Given the description of an element on the screen output the (x, y) to click on. 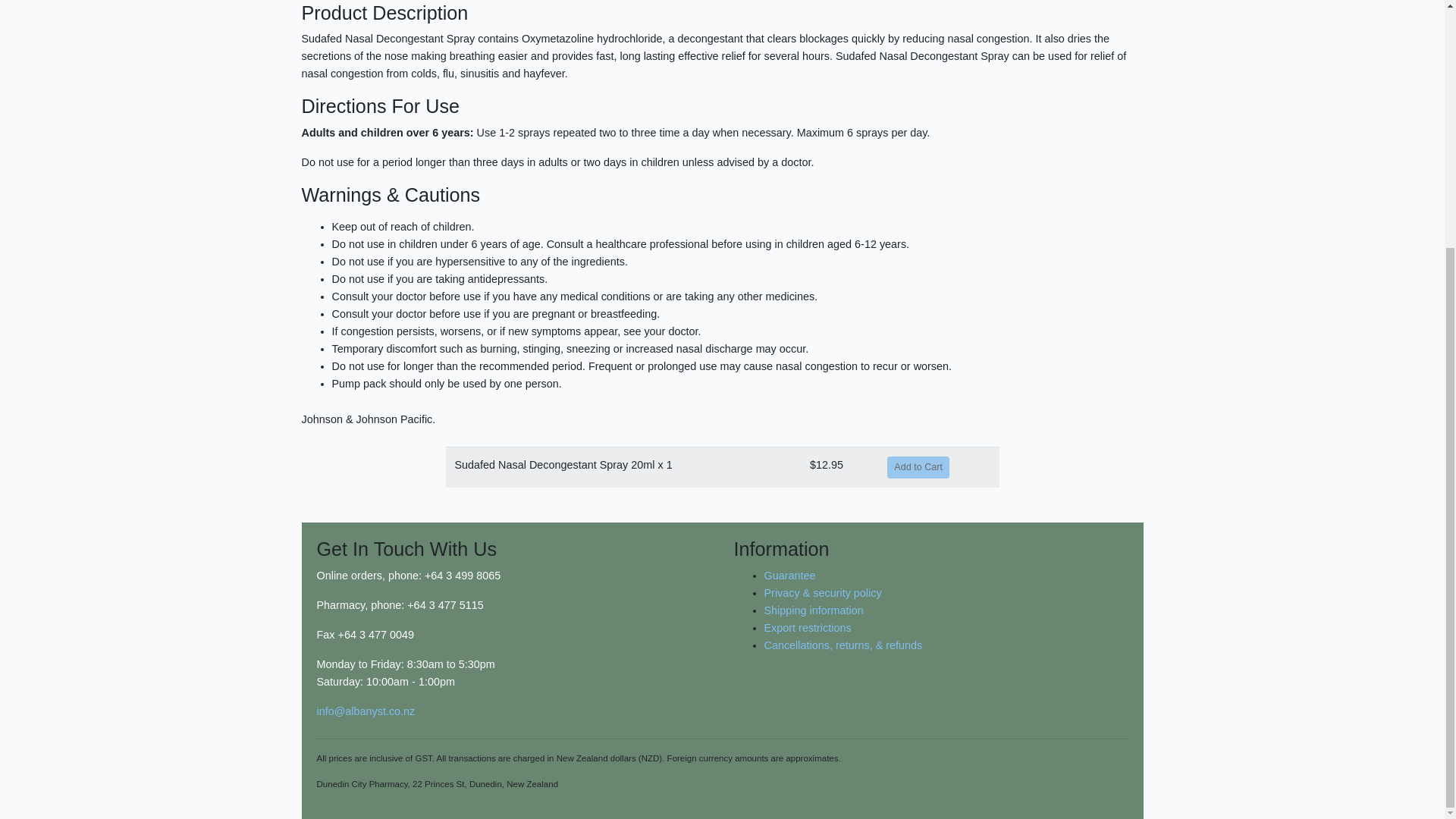
Shipping information (813, 610)
Add to Cart (917, 467)
Add to Cart (917, 467)
Export restrictions (807, 627)
Guarantee (789, 575)
